Given the description of an element on the screen output the (x, y) to click on. 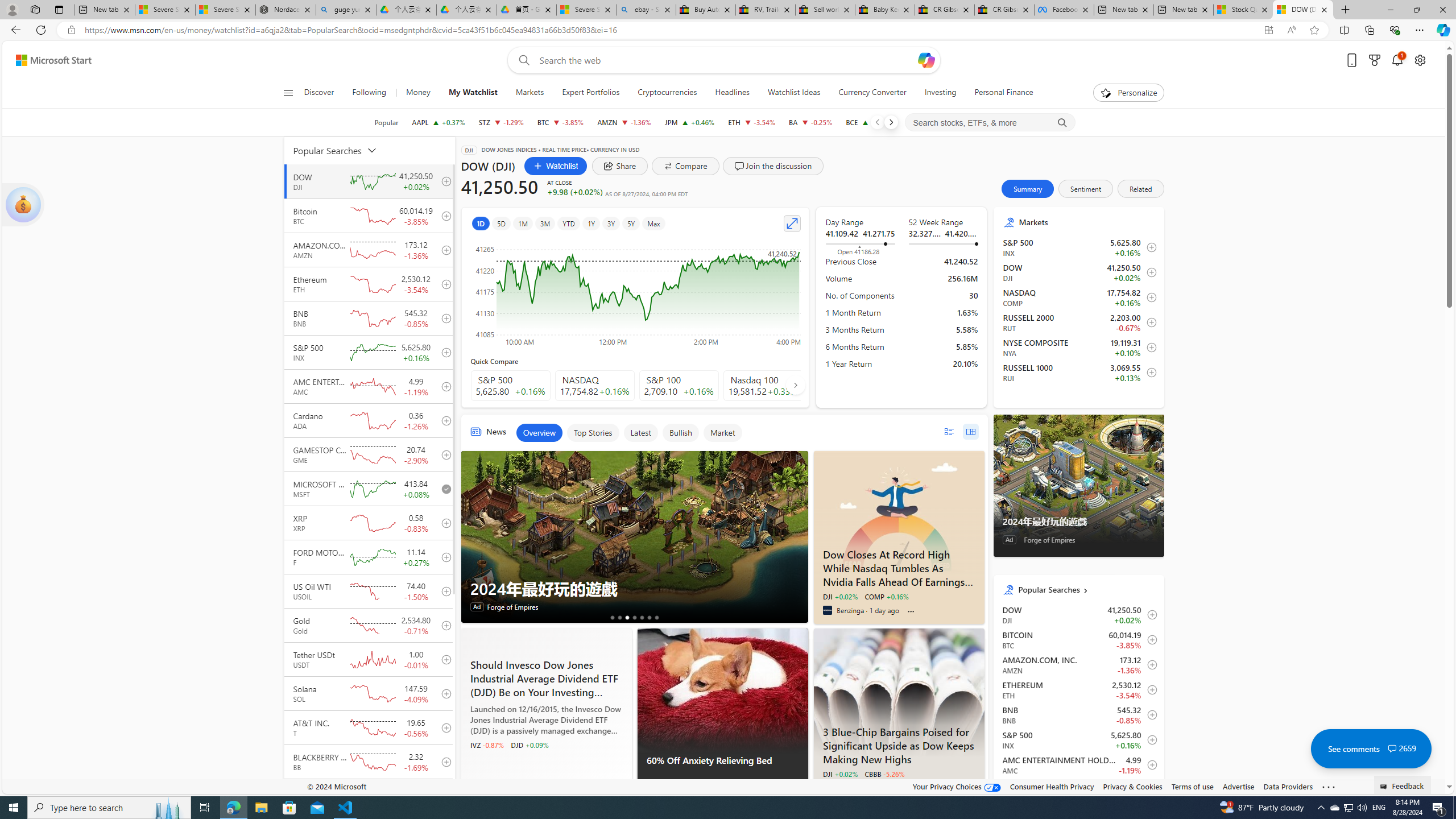
Advertise (1238, 785)
Open navigation menu (287, 92)
Markets (529, 92)
Class: button-glyph (287, 92)
Zacks.com (474, 786)
App available. Install Start Money (1268, 29)
Expert Portfolios (591, 92)
Latest (640, 432)
60% Off Anxiety Relieving Bed (722, 690)
